Given the description of an element on the screen output the (x, y) to click on. 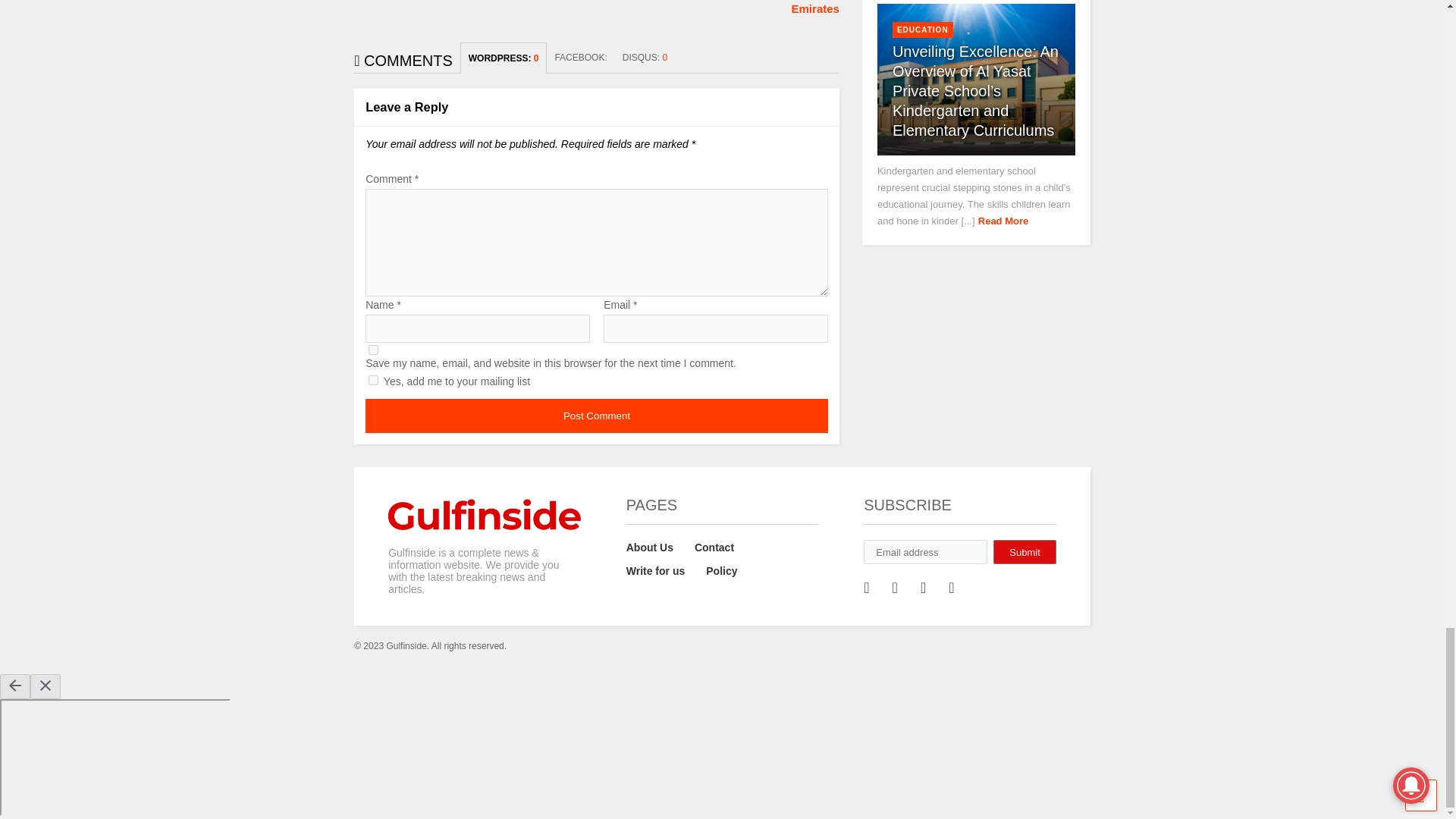
Submit (1023, 551)
1 (373, 379)
Post Comment (596, 415)
yes (373, 349)
